Given the description of an element on the screen output the (x, y) to click on. 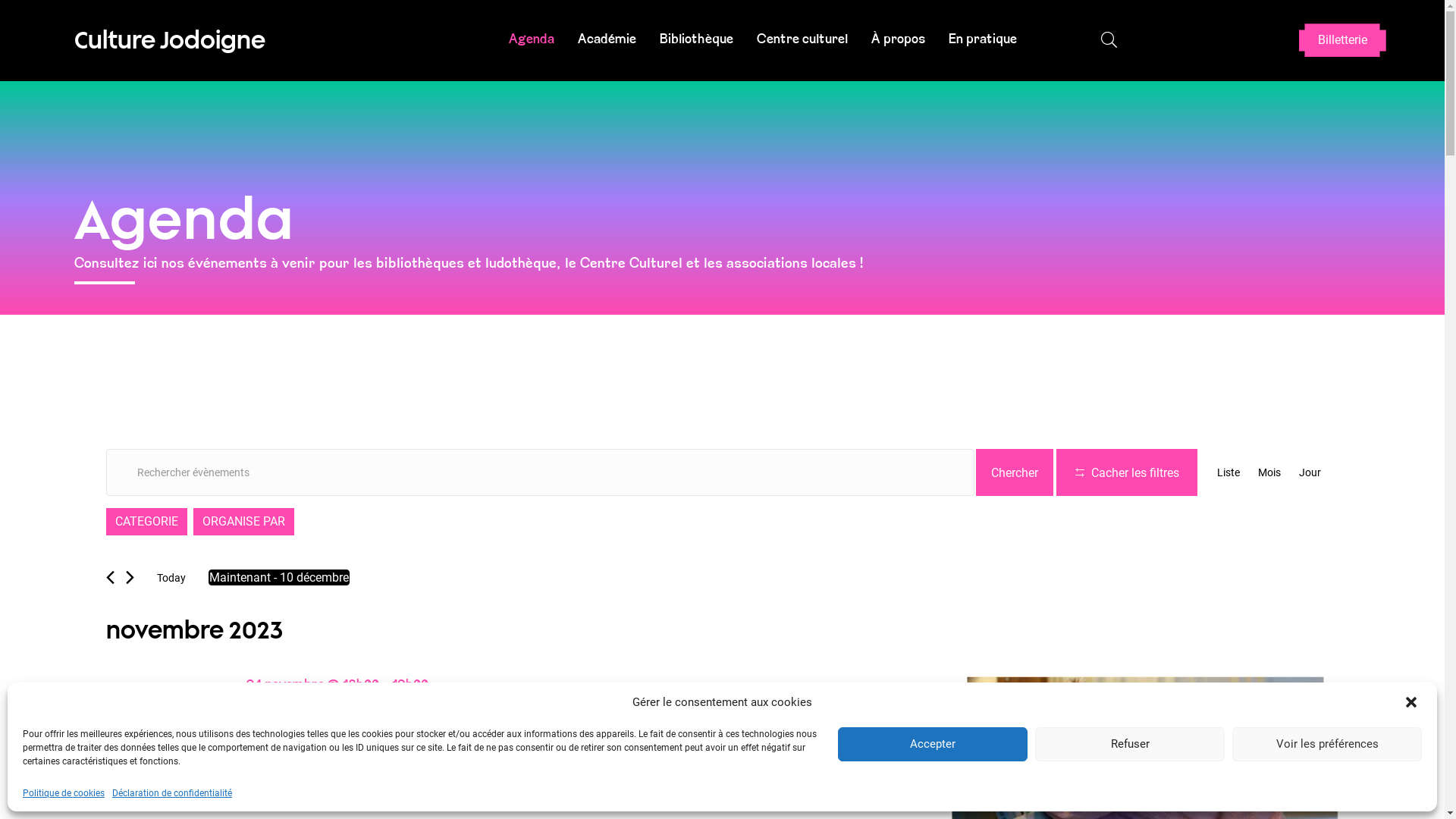
Accepter Element type: text (932, 744)
Agenda Element type: text (531, 40)
Mois Element type: text (1268, 471)
ORGANISE PAR Element type: text (242, 521)
Politique de cookies Element type: text (63, 793)
Jour Element type: text (1309, 471)
En pratique Element type: text (982, 40)
Liste Element type: text (1227, 471)
Cacher les filtres Element type: text (1125, 471)
Chercher Element type: text (1013, 471)
Culture Jodoigne Element type: text (169, 39)
Today Element type: text (171, 577)
Centre culturel Element type: text (801, 40)
CATEGORIE Element type: text (146, 521)
Billetterie Element type: text (1341, 39)
Refuser Element type: text (1129, 744)
